Given the description of an element on the screen output the (x, y) to click on. 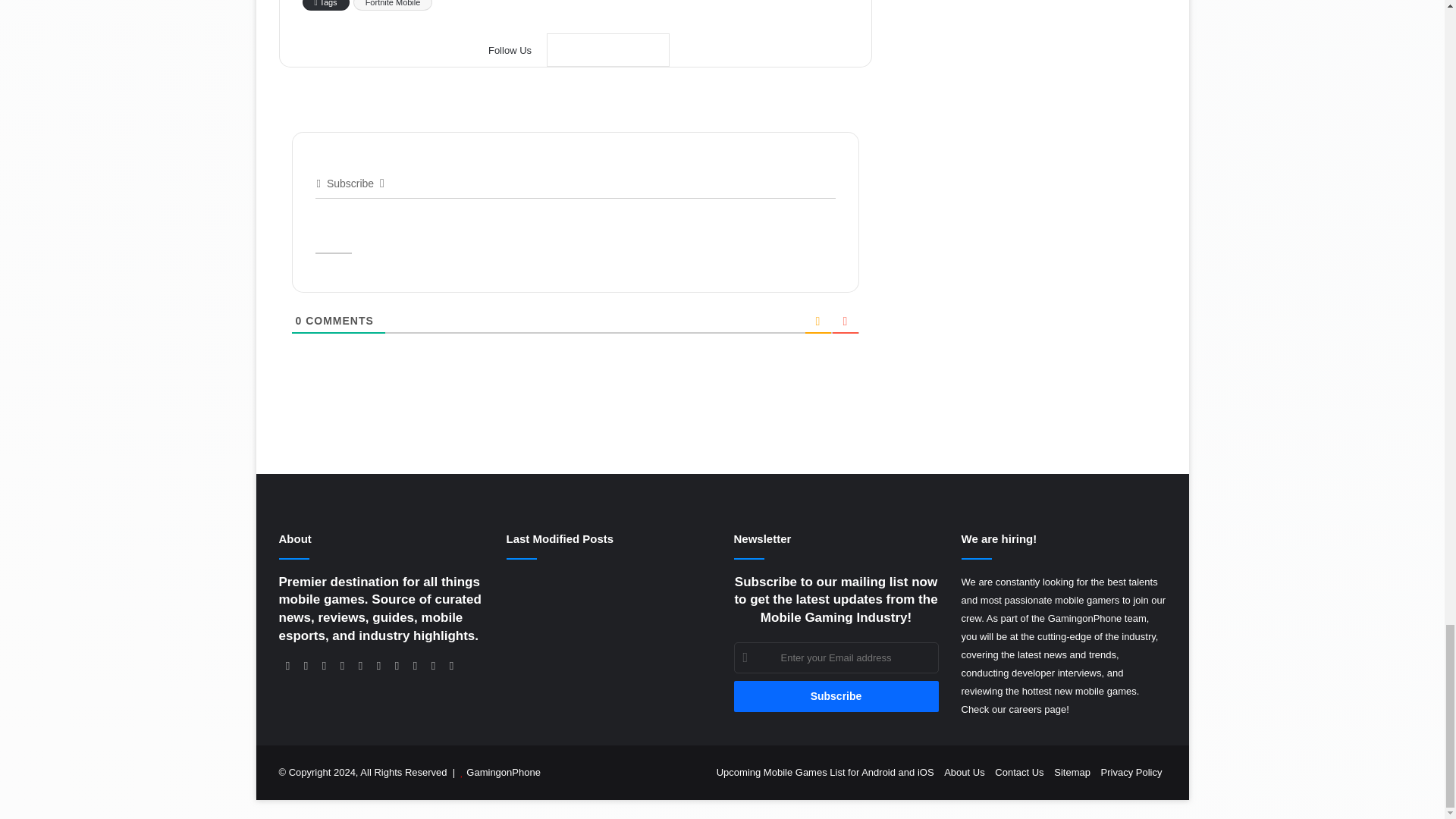
Google News (608, 49)
Subscribe (836, 695)
